Given the description of an element on the screen output the (x, y) to click on. 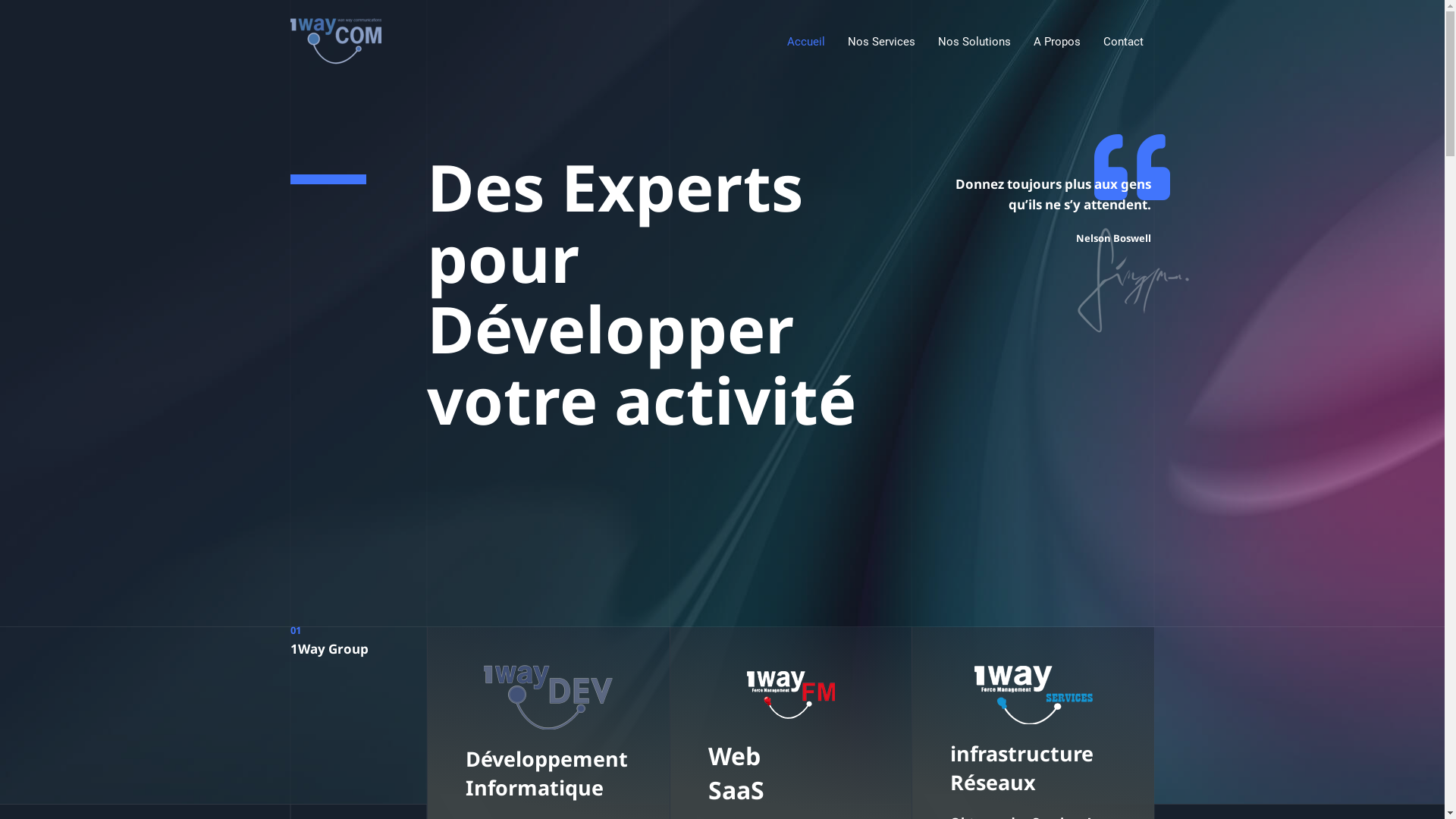
Nos Solutions Element type: text (974, 41)
Contact Element type: text (1123, 41)
Accueil Element type: text (805, 41)
A Propos Element type: text (1057, 41)
Nos Services Element type: text (880, 41)
